Given the description of an element on the screen output the (x, y) to click on. 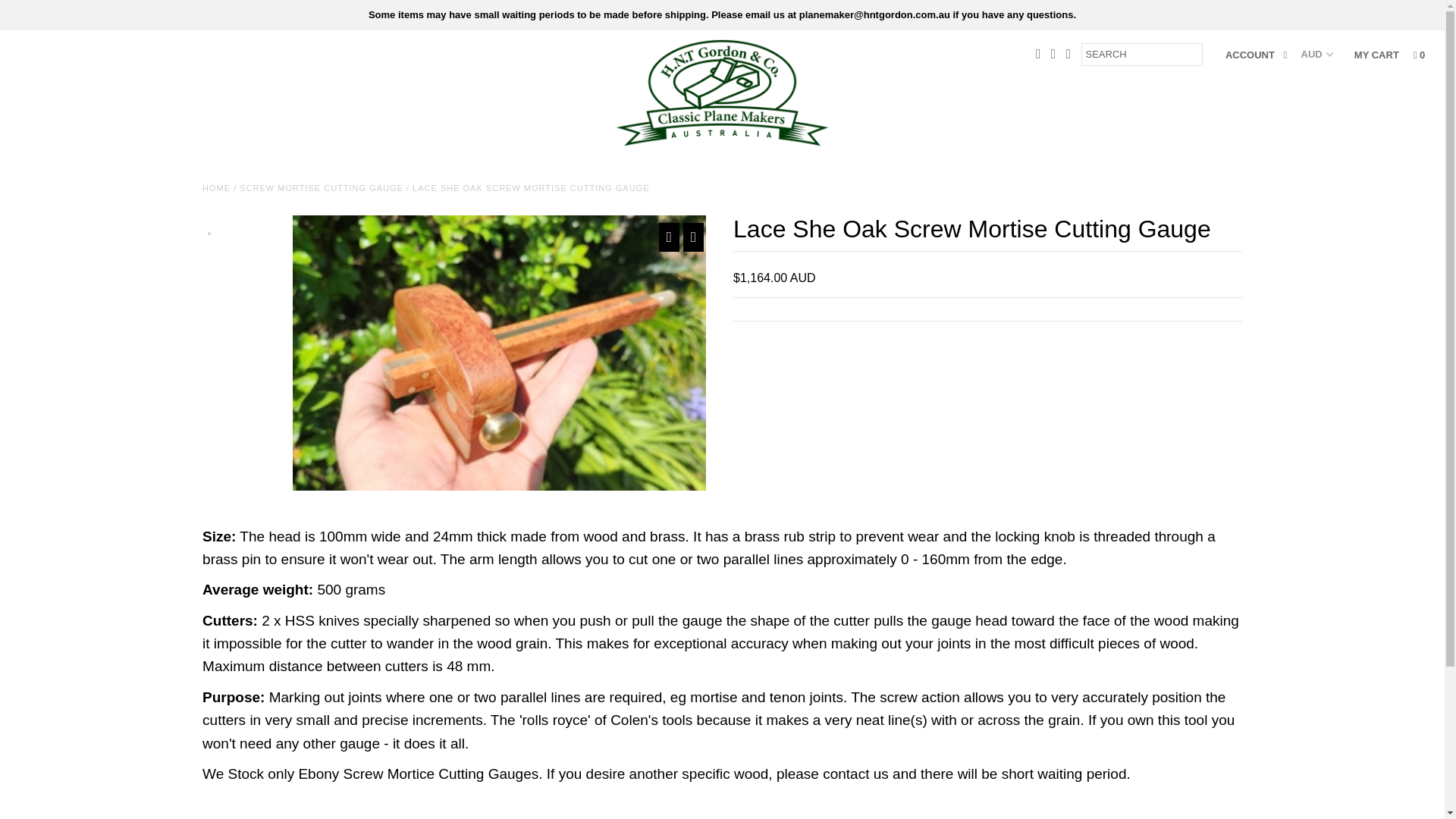
ACCOUNT (1256, 55)
HOME (216, 187)
Home (216, 187)
SCREW MORTISE CUTTING GAUGE (321, 187)
MY CART   0 (1389, 55)
Screw Mortise Cutting Gauge (321, 187)
